Given the description of an element on the screen output the (x, y) to click on. 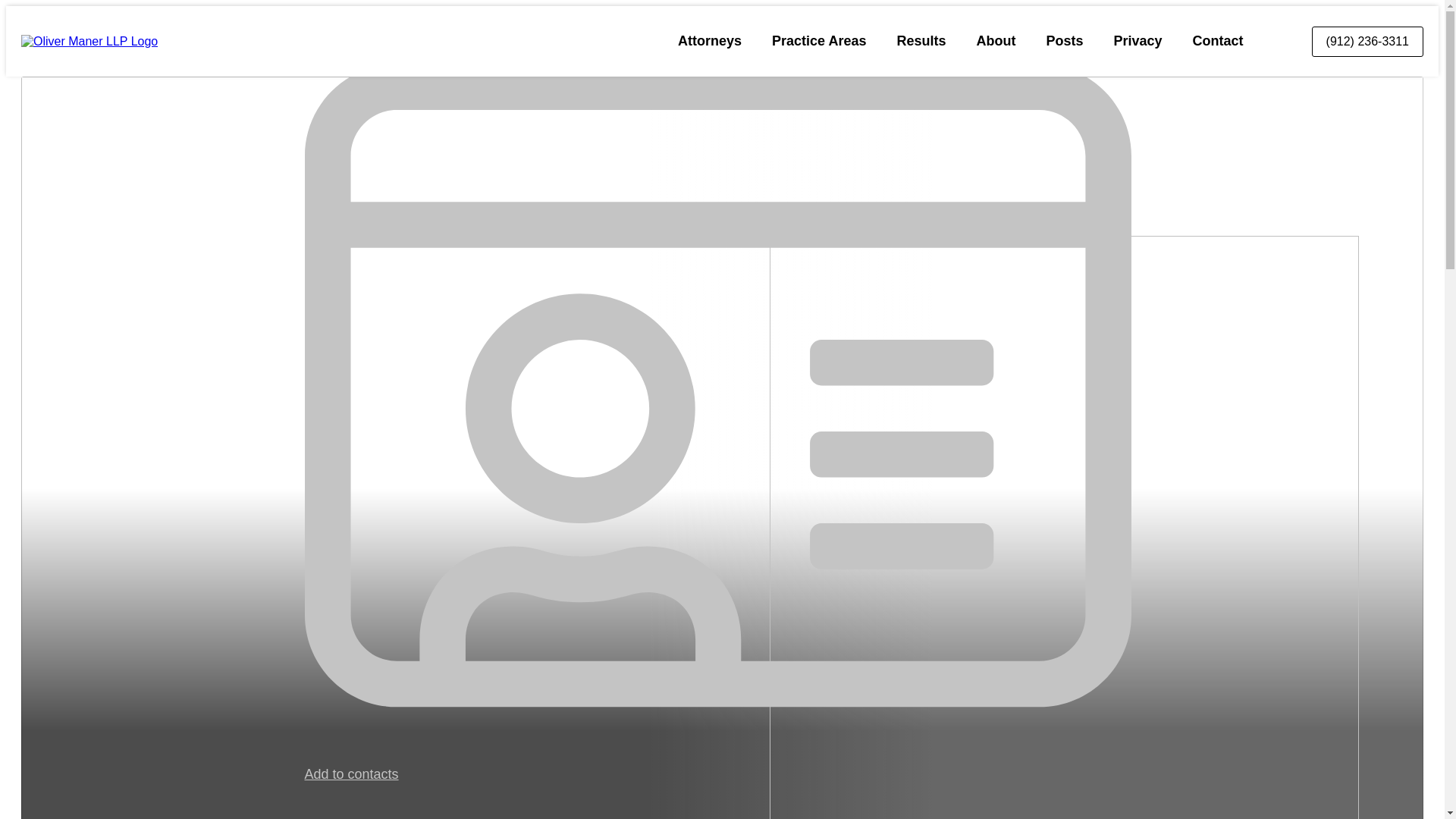
About (996, 41)
Practice Areas (818, 41)
Privacy (1137, 41)
Posts (1064, 41)
Contact (1217, 41)
Results (920, 41)
Attorneys (709, 41)
